Given the description of an element on the screen output the (x, y) to click on. 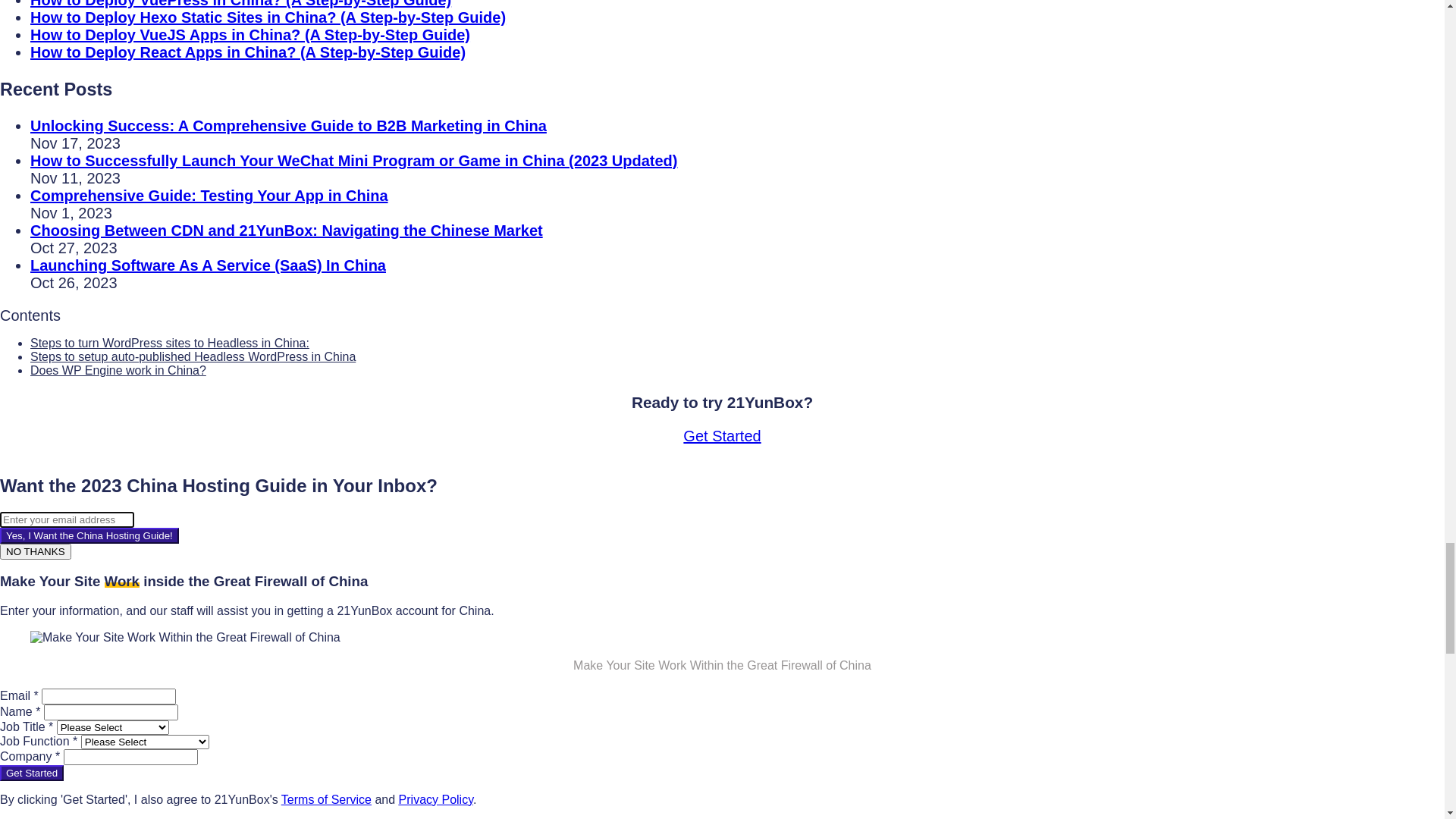
Log in Element type: text (44, 125)
Resources Element type: text (58, 70)
Get Started Element type: text (56, 137)
Request Demo Element type: text (64, 149)
Steps to setup auto-published Headless WordPress in China Element type: text (233, 668)
Contact Element type: text (50, 82)
Does WP Engine work in China? Element type: text (140, 685)
Our Services Element type: text (63, 58)
Steps to turn WordPress sites to Headless in China: Element type: text (204, 651)
